Given the description of an element on the screen output the (x, y) to click on. 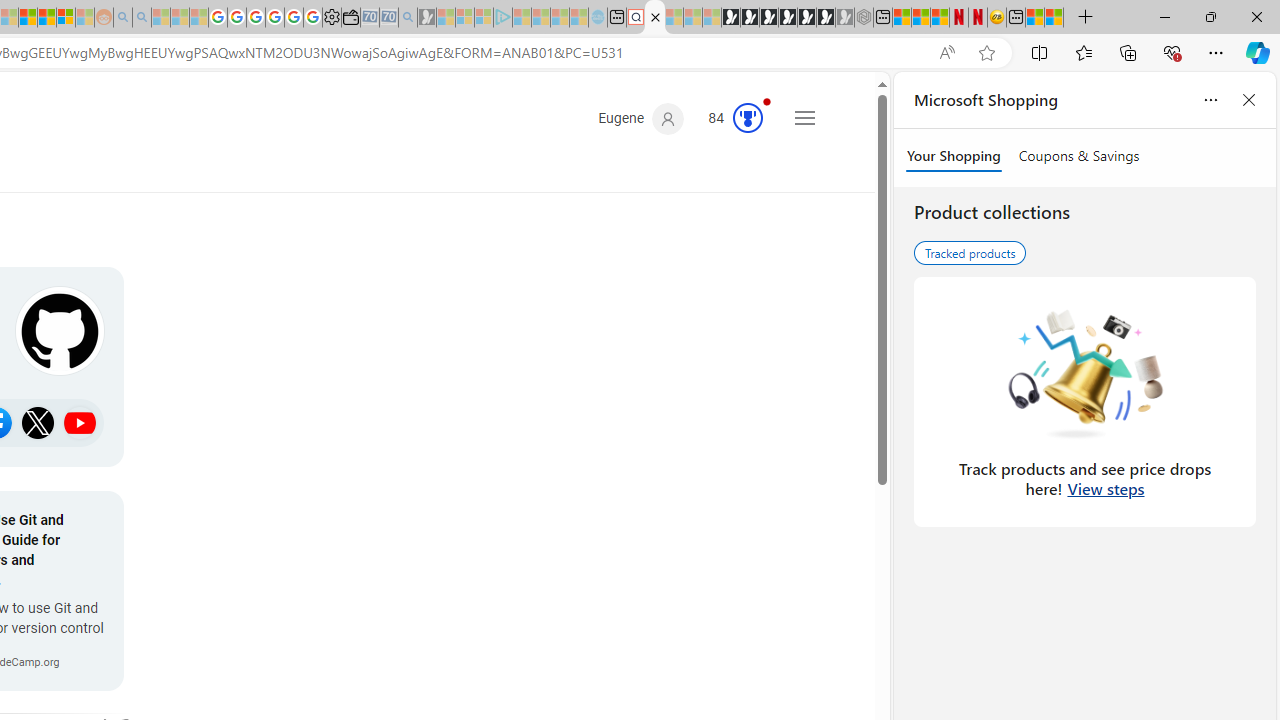
Wallet (350, 17)
Kinda Frugal - MSN (47, 17)
